Given the description of an element on the screen output the (x, y) to click on. 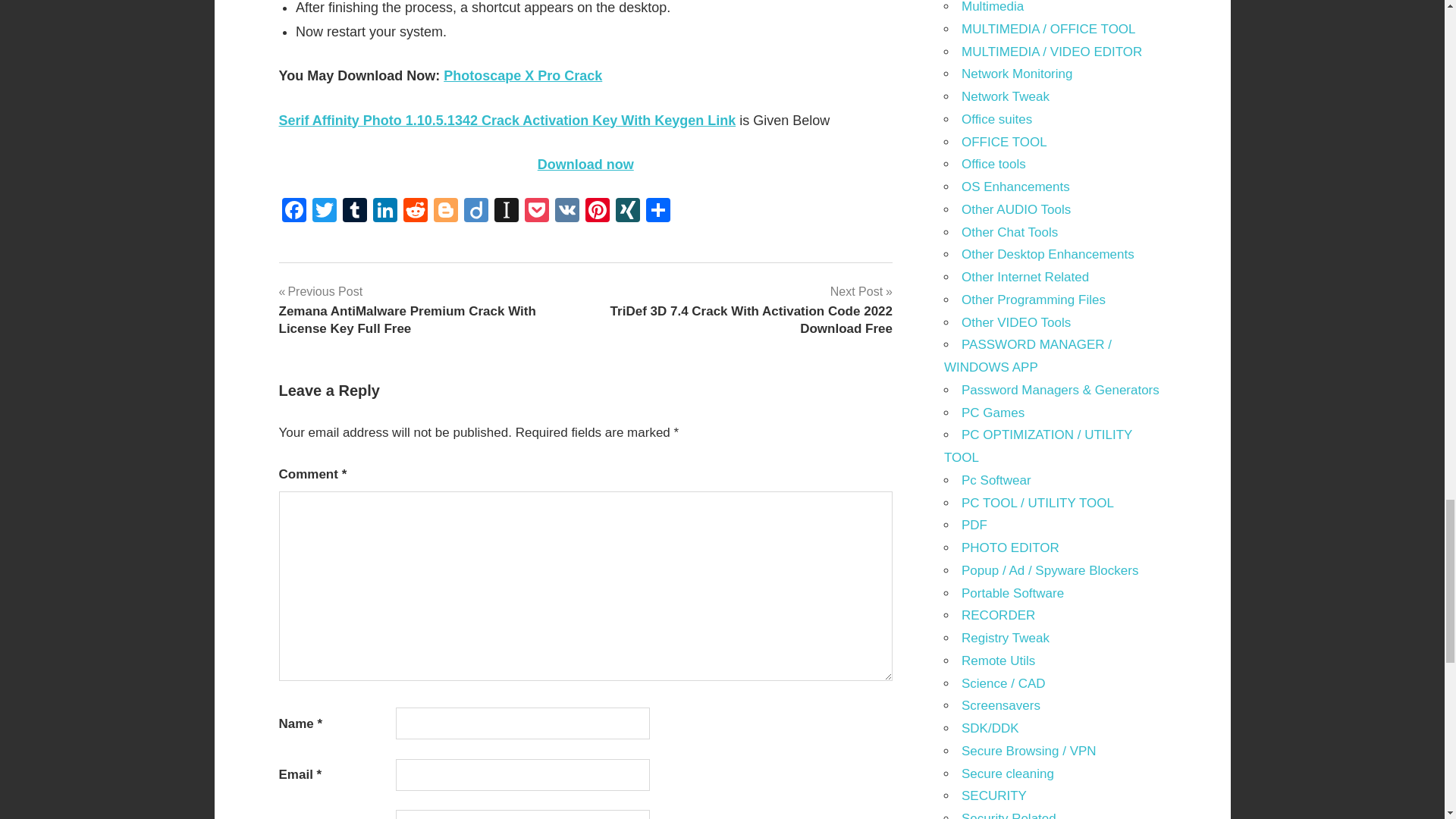
Diigo (476, 211)
Pocket (536, 211)
Facebook (293, 211)
Pocket (536, 211)
Pinterest (597, 211)
Twitter (323, 211)
Download now (585, 164)
Tumblr (354, 211)
Instapaper (506, 211)
Pinterest (597, 211)
LinkedIn (384, 211)
LinkedIn (384, 211)
Twitter (323, 211)
Blogger (445, 211)
